Given the description of an element on the screen output the (x, y) to click on. 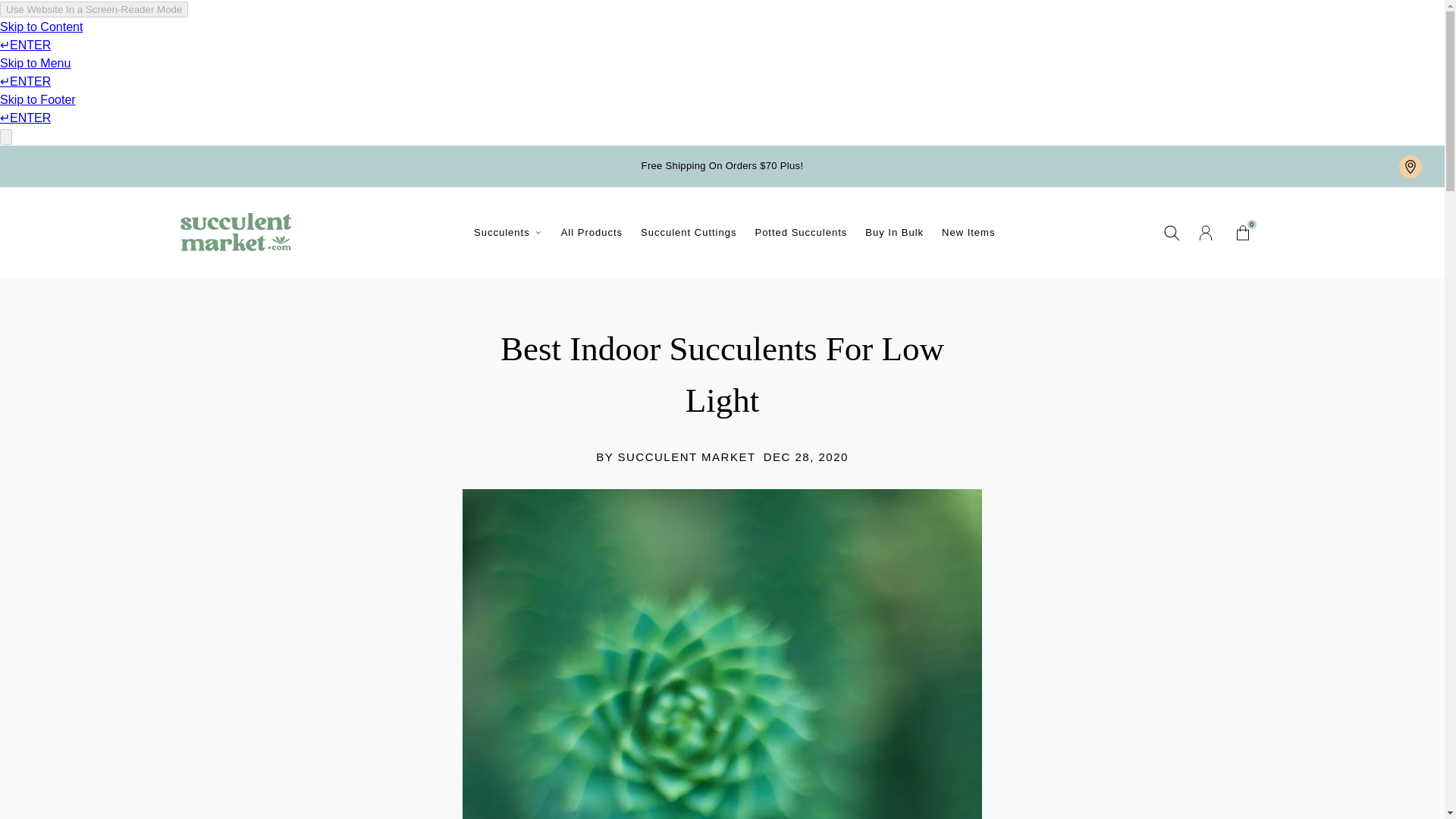
Potted Succulents (800, 232)
Succulent Cuttings (688, 232)
Succulent Market (235, 231)
Your Bag (1241, 232)
Search (1170, 232)
Succulent Cuttings (688, 232)
Succulents (1241, 232)
Potted Succulents (507, 232)
